Given the description of an element on the screen output the (x, y) to click on. 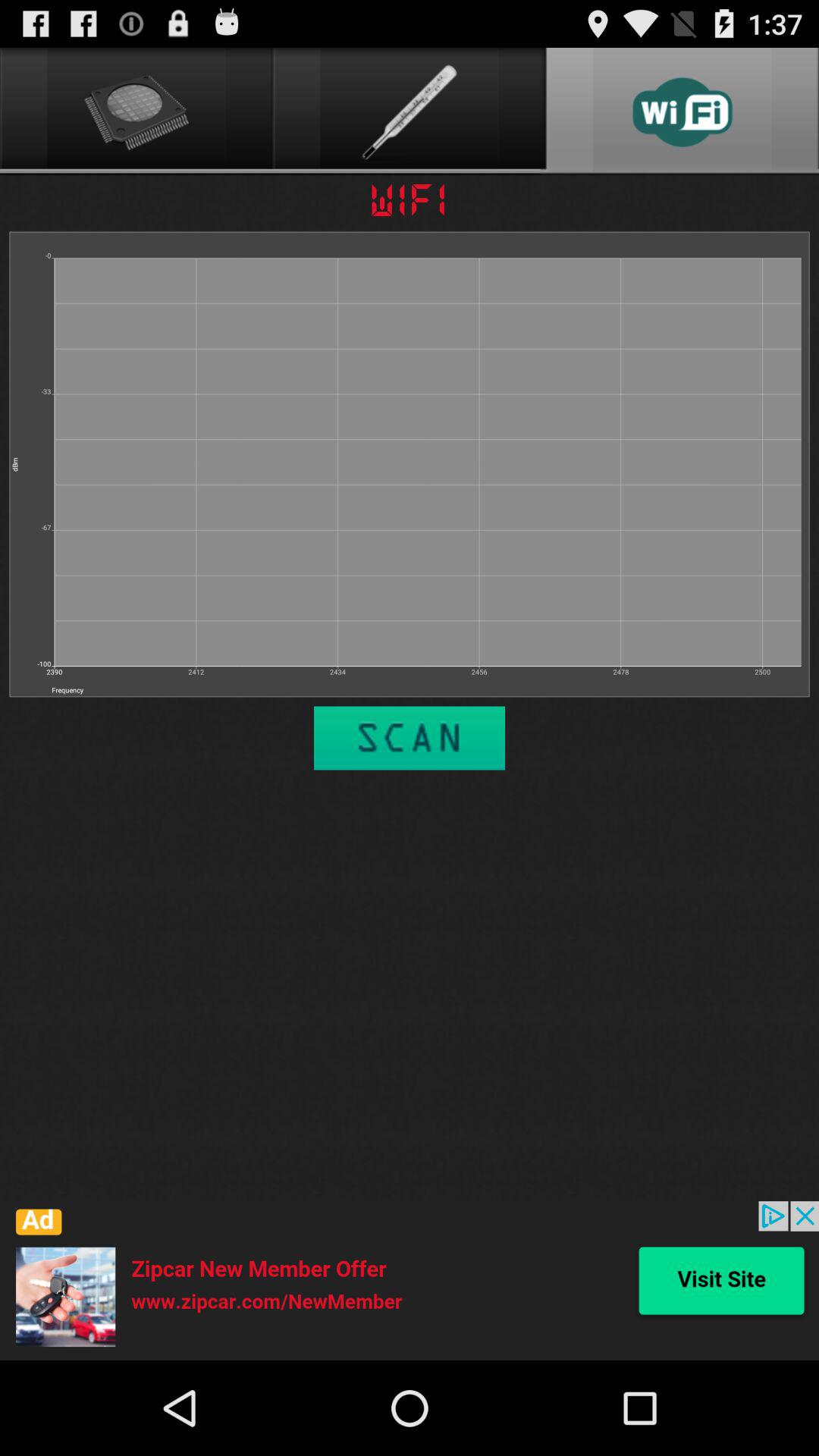
scan (409, 738)
